Given the description of an element on the screen output the (x, y) to click on. 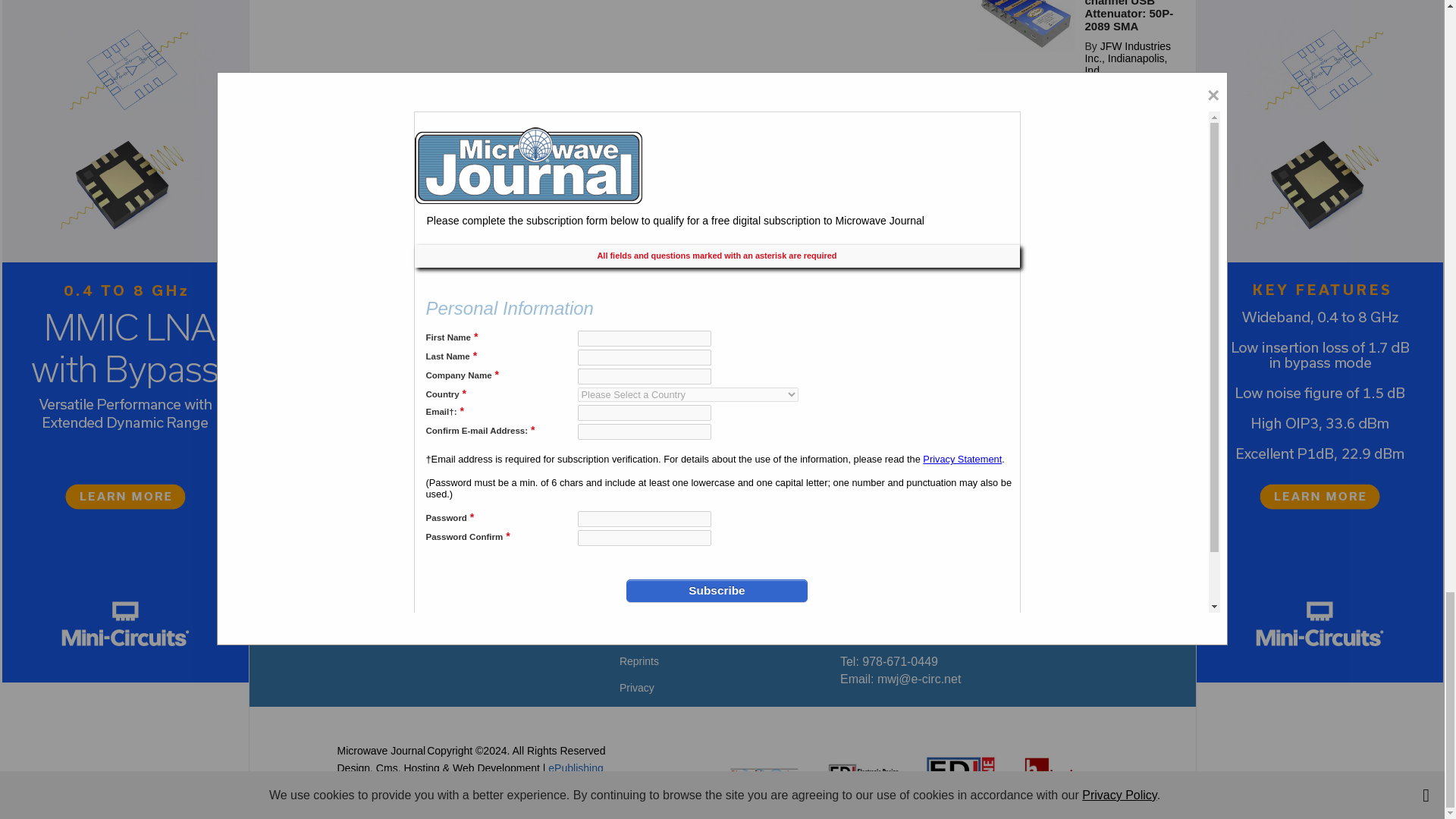
50P-2089 SMAwjt.jpg (1025, 25)
3rd party ad content (721, 396)
richardson-2-29-24wjt.jpg (1025, 251)
200x200 AMP 2123P-4KW No-Cost eNewsletter Promotion-6-3.jpg (1025, 146)
